Given the description of an element on the screen output the (x, y) to click on. 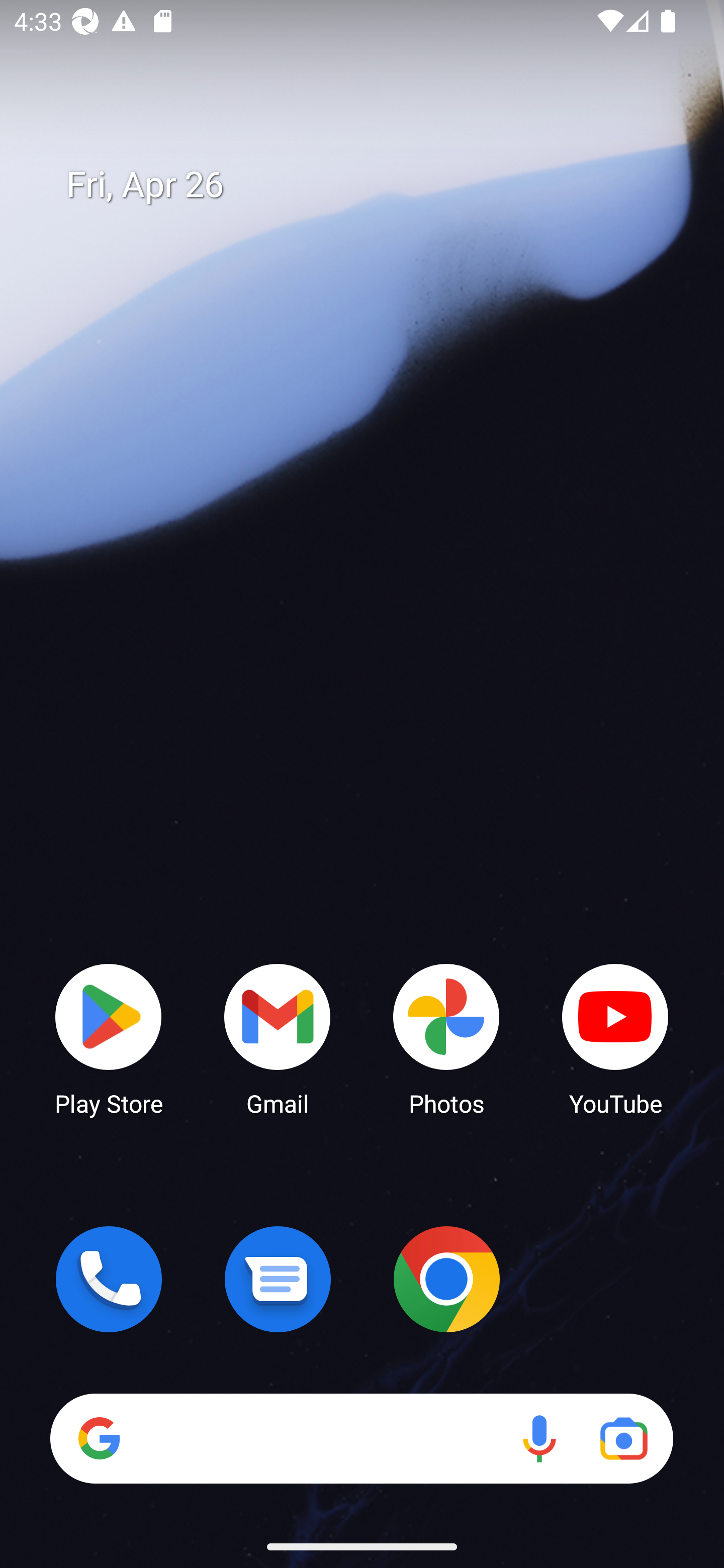
Fri, Apr 26 (375, 184)
Play Store (108, 1038)
Gmail (277, 1038)
Photos (445, 1038)
YouTube (615, 1038)
Phone (108, 1279)
Messages (277, 1279)
Chrome (446, 1279)
Search Voice search Google Lens (361, 1438)
Voice search (539, 1438)
Google Lens (623, 1438)
